Given the description of an element on the screen output the (x, y) to click on. 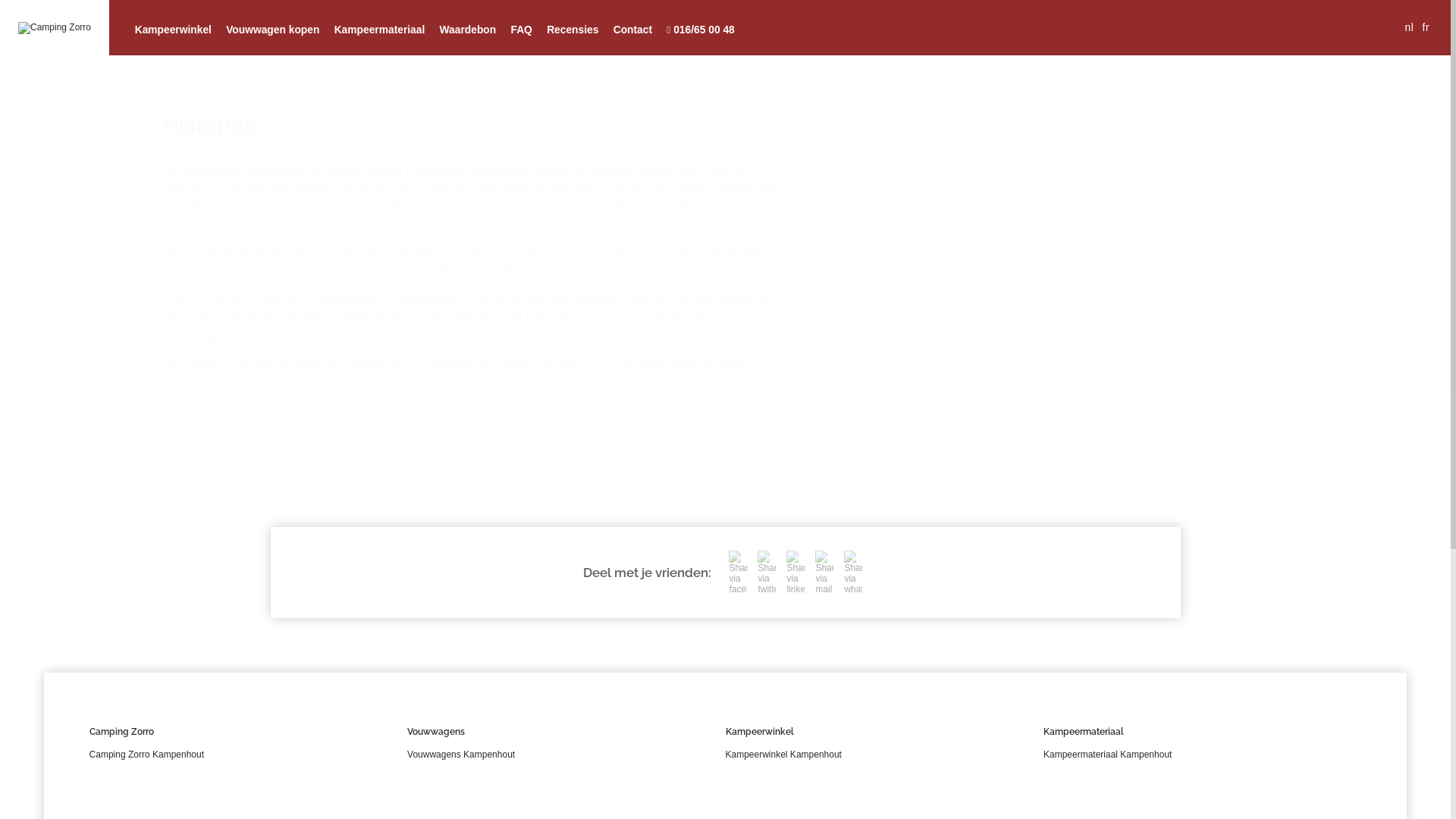
Contact Element type: text (631, 30)
Share via X Element type: hover (766, 572)
Camping Zorro Kampenhout Element type: text (146, 754)
FAQ Element type: text (521, 30)
Recensies Element type: text (572, 30)
Share via mail Element type: hover (824, 572)
privacy policy Element type: text (760, 415)
Kampeermateriaal Kampenhout Element type: text (1107, 754)
nl Element type: text (1408, 27)
Kampeerwinkel Element type: text (172, 30)
Share via whatsapp Element type: hover (852, 572)
Camping Zorro Element type: hover (54, 27)
Vouwwagens Kampenhout Element type: text (460, 754)
fr Element type: text (1425, 27)
Share via linkedin Element type: hover (795, 572)
Kampeerwinkel Kampenhout Element type: text (782, 754)
x Element type: text (743, 424)
Share via facebook Element type: hover (737, 572)
Waardebon Element type: text (467, 30)
